Given the description of an element on the screen output the (x, y) to click on. 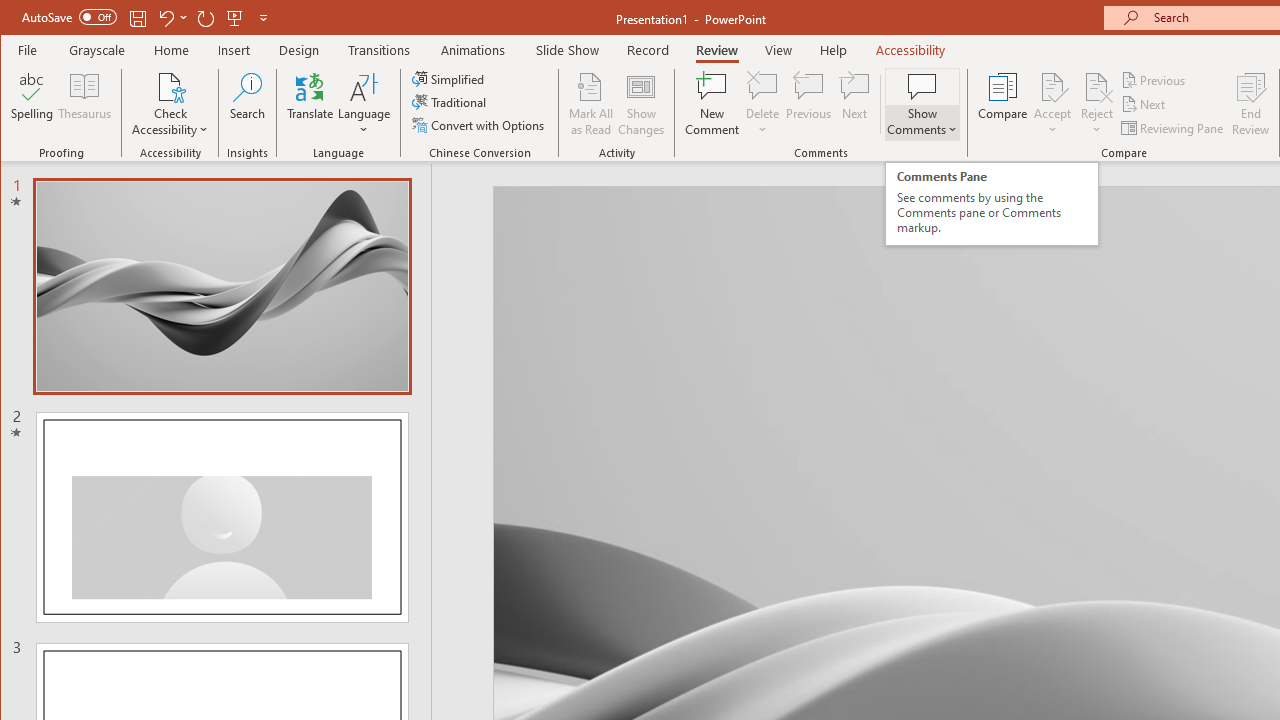
Grayscale (97, 50)
Language (363, 104)
Reviewing Pane (1173, 127)
Show Comments (922, 104)
End Review (1251, 104)
Translate (310, 104)
New Comment (712, 104)
Reject Change (1096, 86)
